Given the description of an element on the screen output the (x, y) to click on. 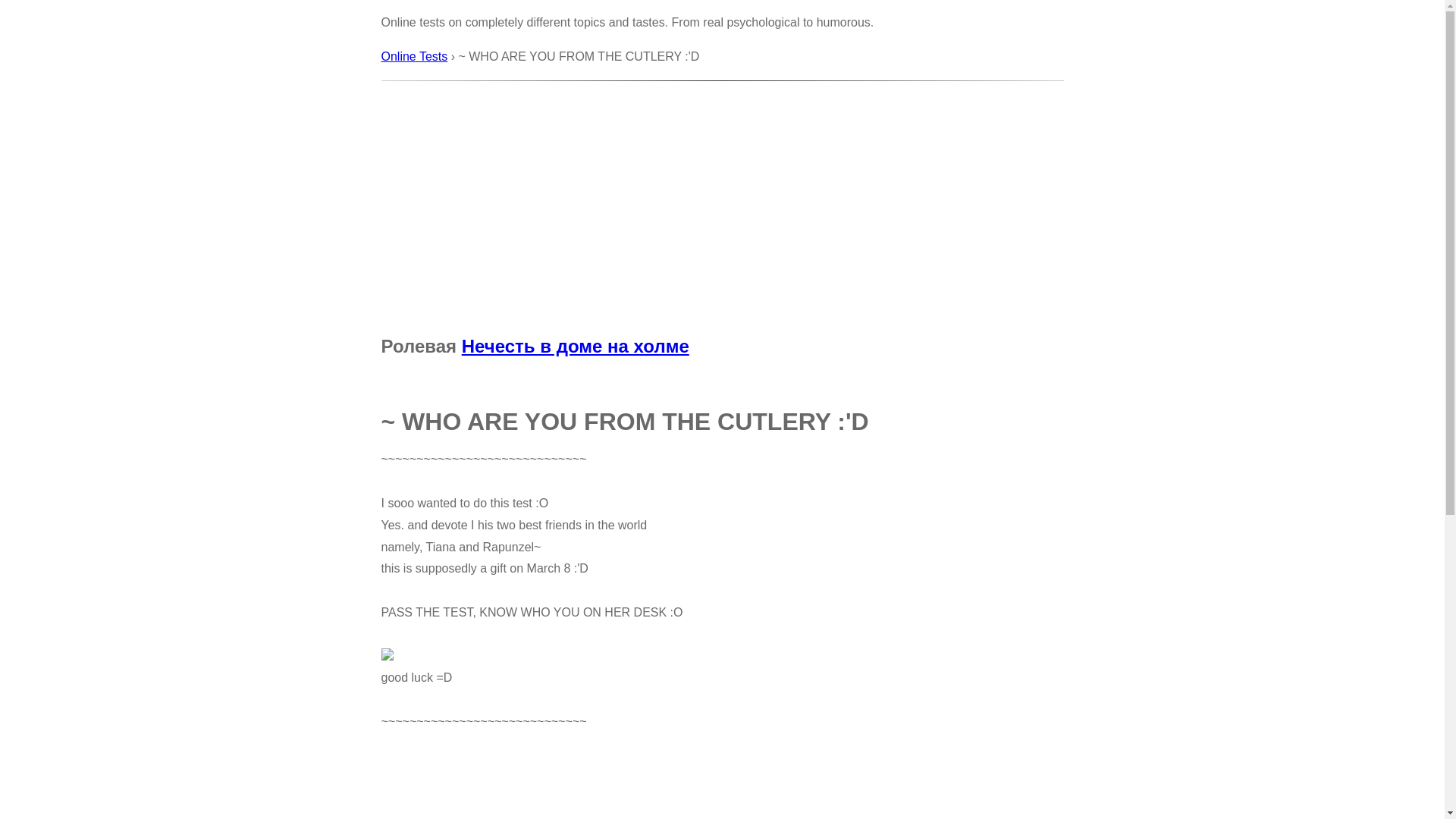
Online Tests Element type: text (413, 56)
Advertisement Element type: hover (721, 193)
